Given the description of an element on the screen output the (x, y) to click on. 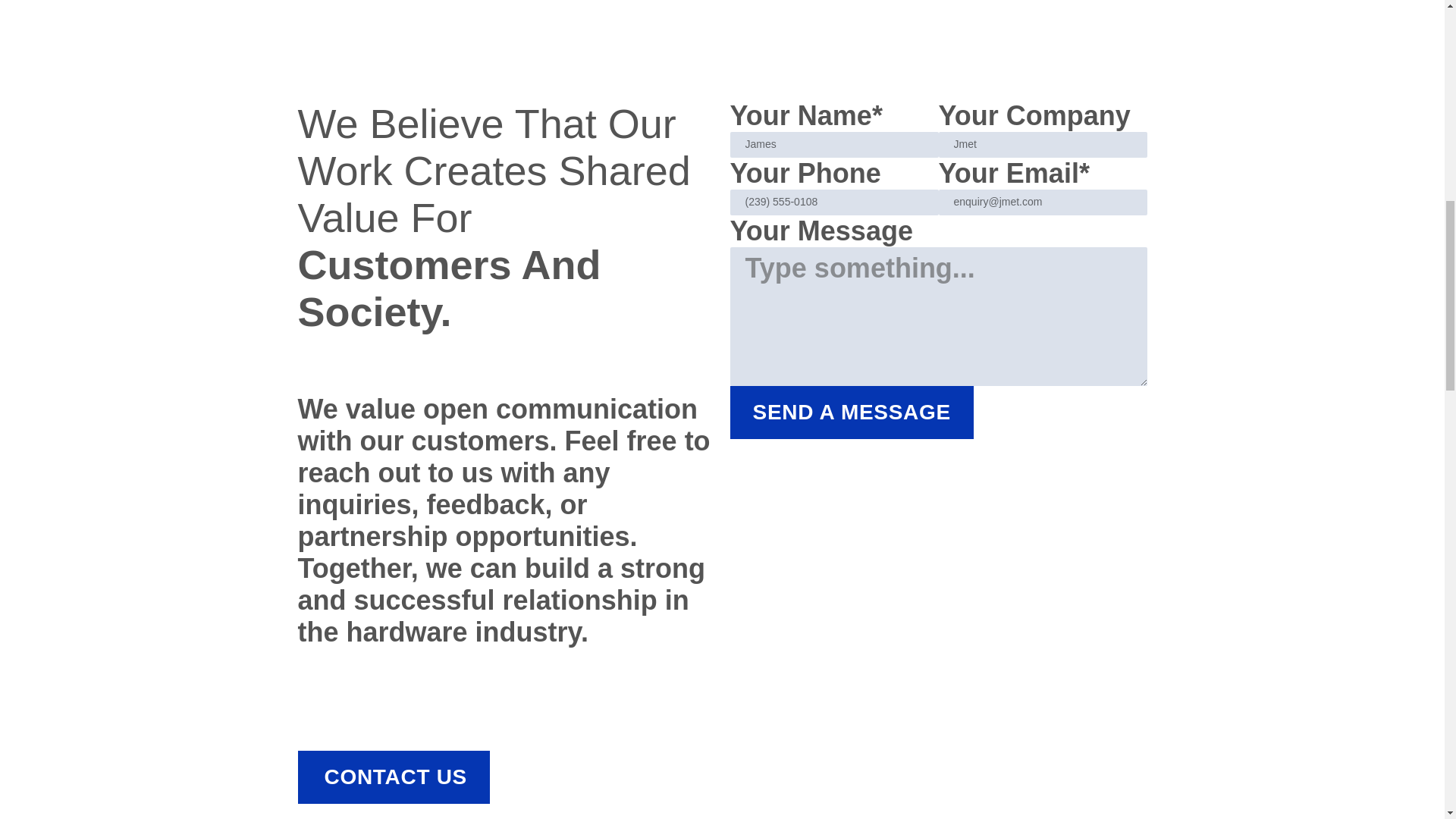
CONTACT US (393, 777)
SEND A MESSAGE (850, 411)
